Given the description of an element on the screen output the (x, y) to click on. 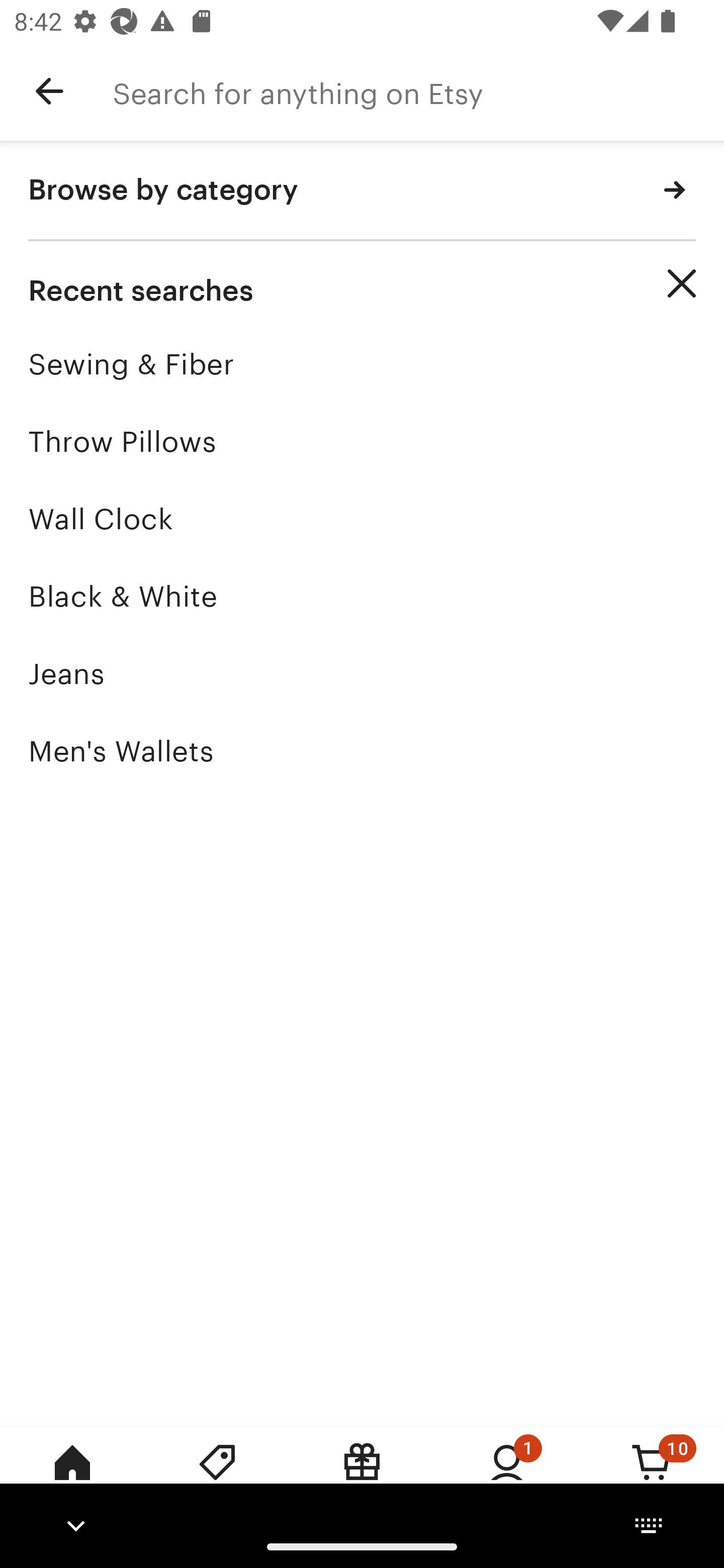
Navigate up (49, 91)
Search for anything on Etsy (418, 91)
Browse by category (362, 191)
Clear (681, 283)
Sewing & Fiber (362, 364)
Throw Pillows (362, 440)
Wall Clock (362, 518)
Black & White (362, 596)
Jeans (362, 673)
Men's Wallets (362, 750)
Deals (216, 1475)
Gift Mode (361, 1475)
You, 1 new notification (506, 1475)
Cart, 10 new notifications (651, 1475)
